Given the description of an element on the screen output the (x, y) to click on. 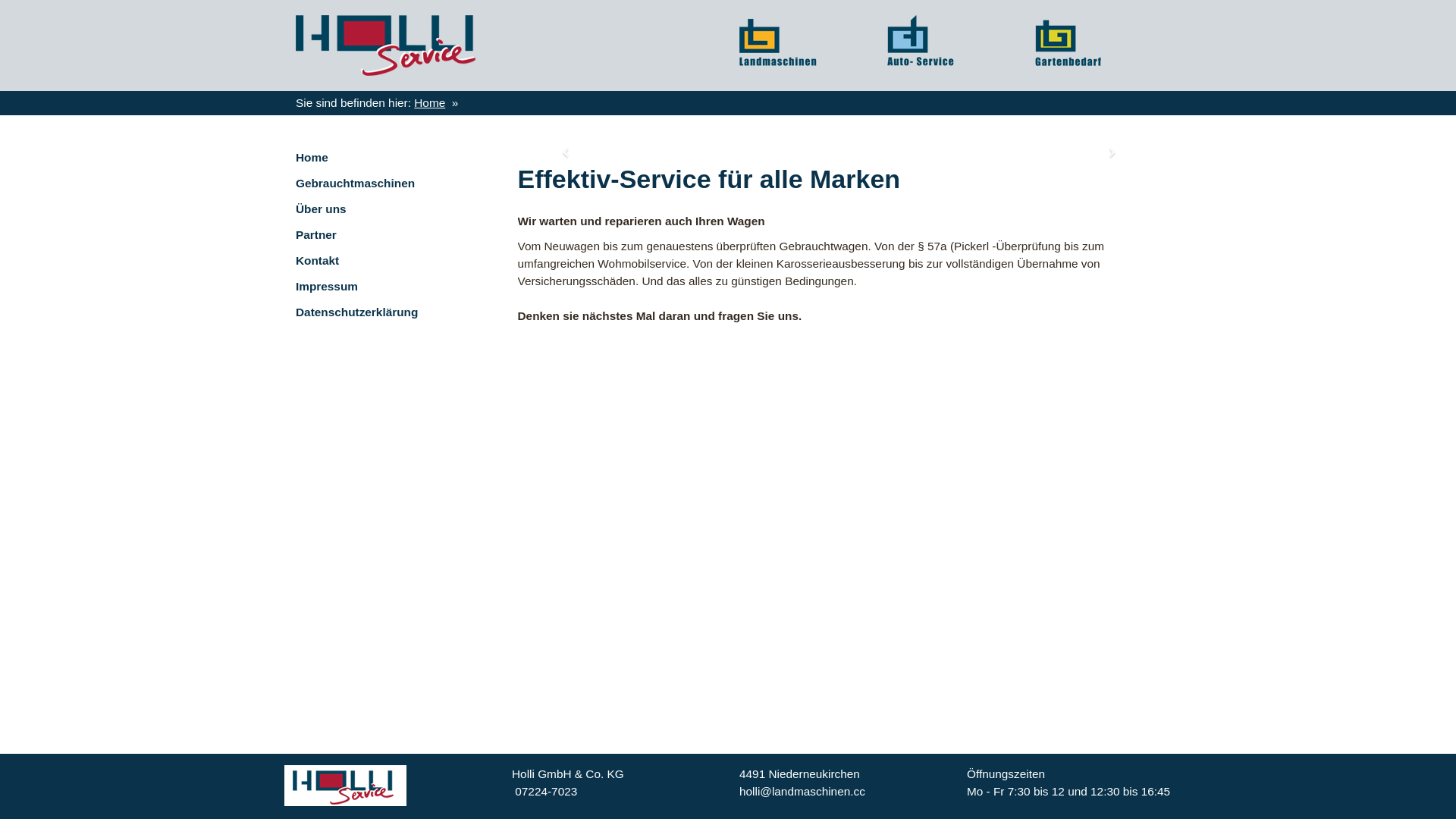
Gebrauchtmaschinen Element type: text (395, 183)
Home Element type: text (429, 102)
@landmaschinen.cc Element type: text (812, 790)
Impressum Element type: text (395, 286)
Kontakt Element type: text (395, 260)
Partner Element type: text (395, 234)
0 Element type: text (517, 790)
Home Element type: text (395, 157)
